Given the description of an element on the screen output the (x, y) to click on. 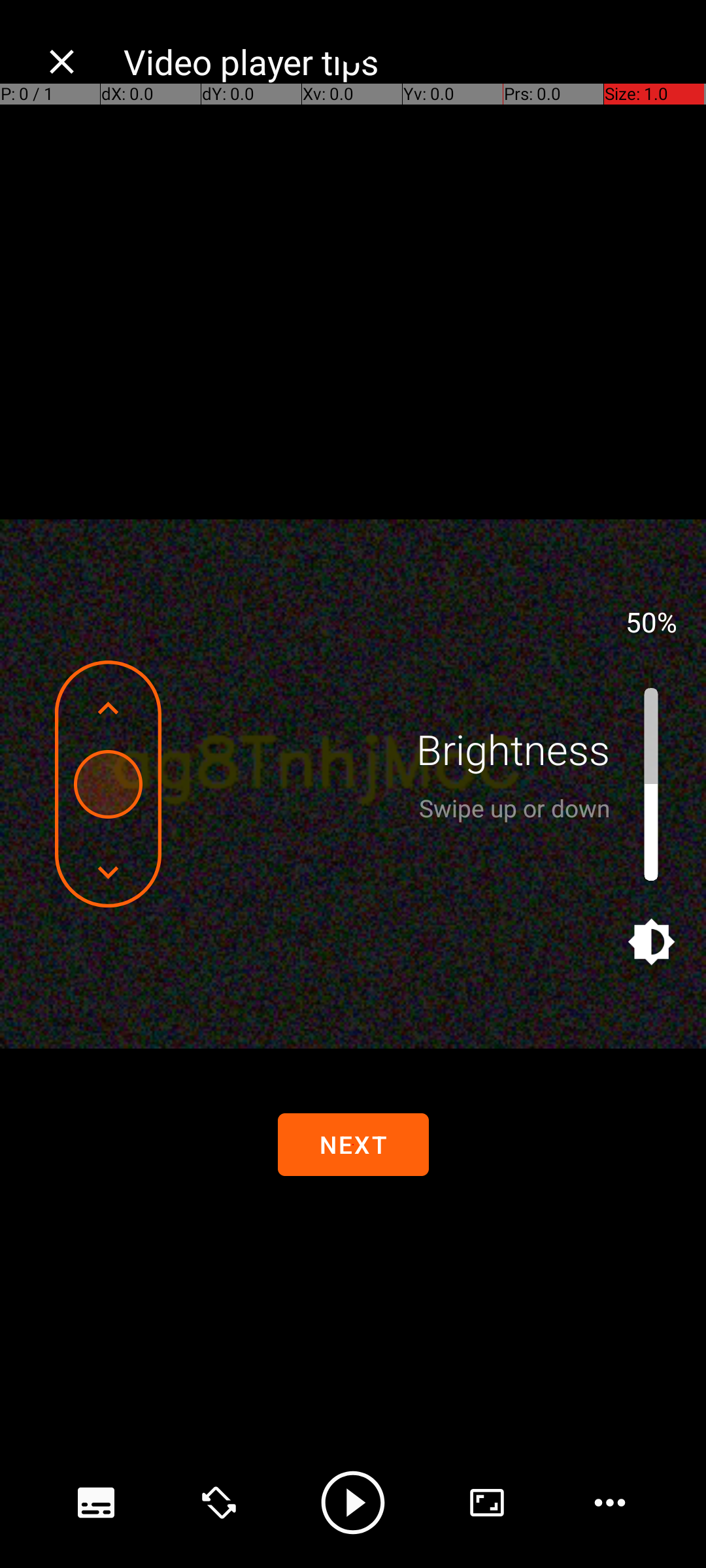
Video player. Tap to show controls. Tap the back button to hide them Element type: android.widget.FrameLayout (353, 784)
Video player tips Element type: android.widget.TextView (400, 61)
50% Element type: android.widget.TextView (650, 621)
Brightness Element type: android.widget.TextView (512, 748)
Swipe up or down Element type: android.widget.TextView (514, 807)
Play Element type: android.widget.ImageView (352, 1502)
advanced options Element type: android.widget.ImageView (486, 1502)
